Given the description of an element on the screen output the (x, y) to click on. 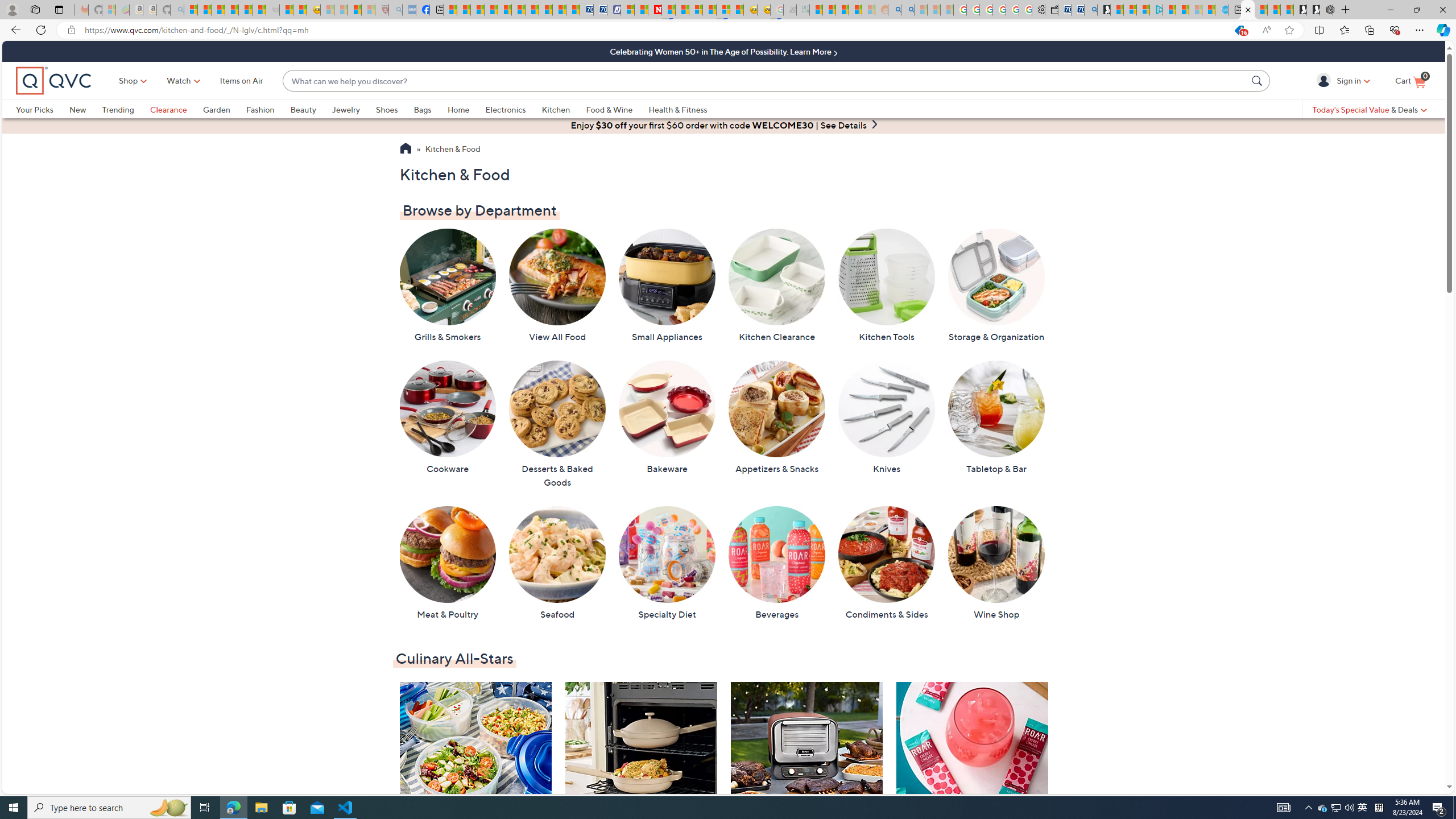
Kitchen Clearance (776, 285)
Celebrating Women 50+ in The Age of Possibility. Learn More (723, 51)
Trending (125, 109)
Desserts & Baked Goods (557, 424)
